Given the description of an element on the screen output the (x, y) to click on. 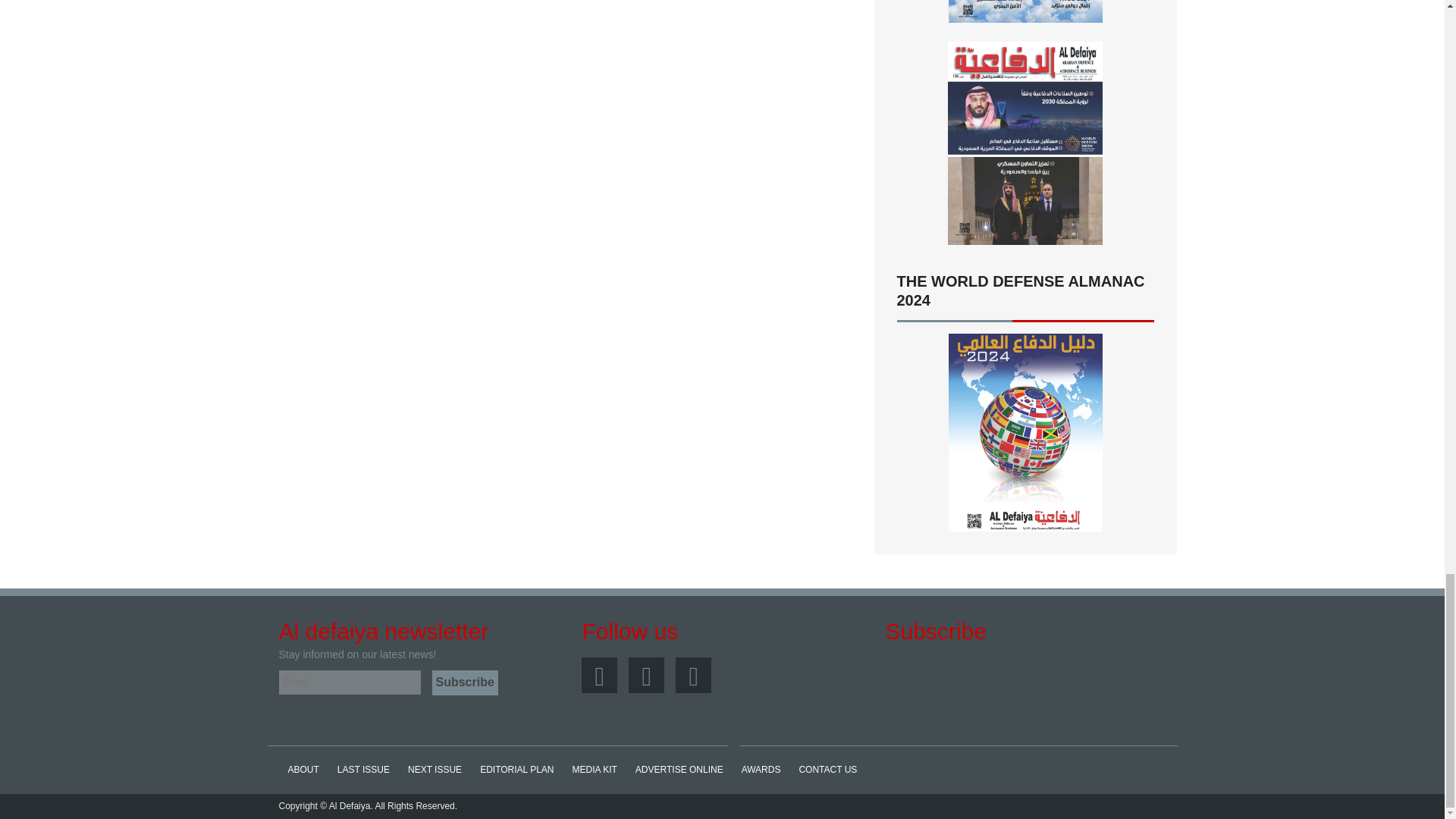
Subscribe (464, 682)
